Given the description of an element on the screen output the (x, y) to click on. 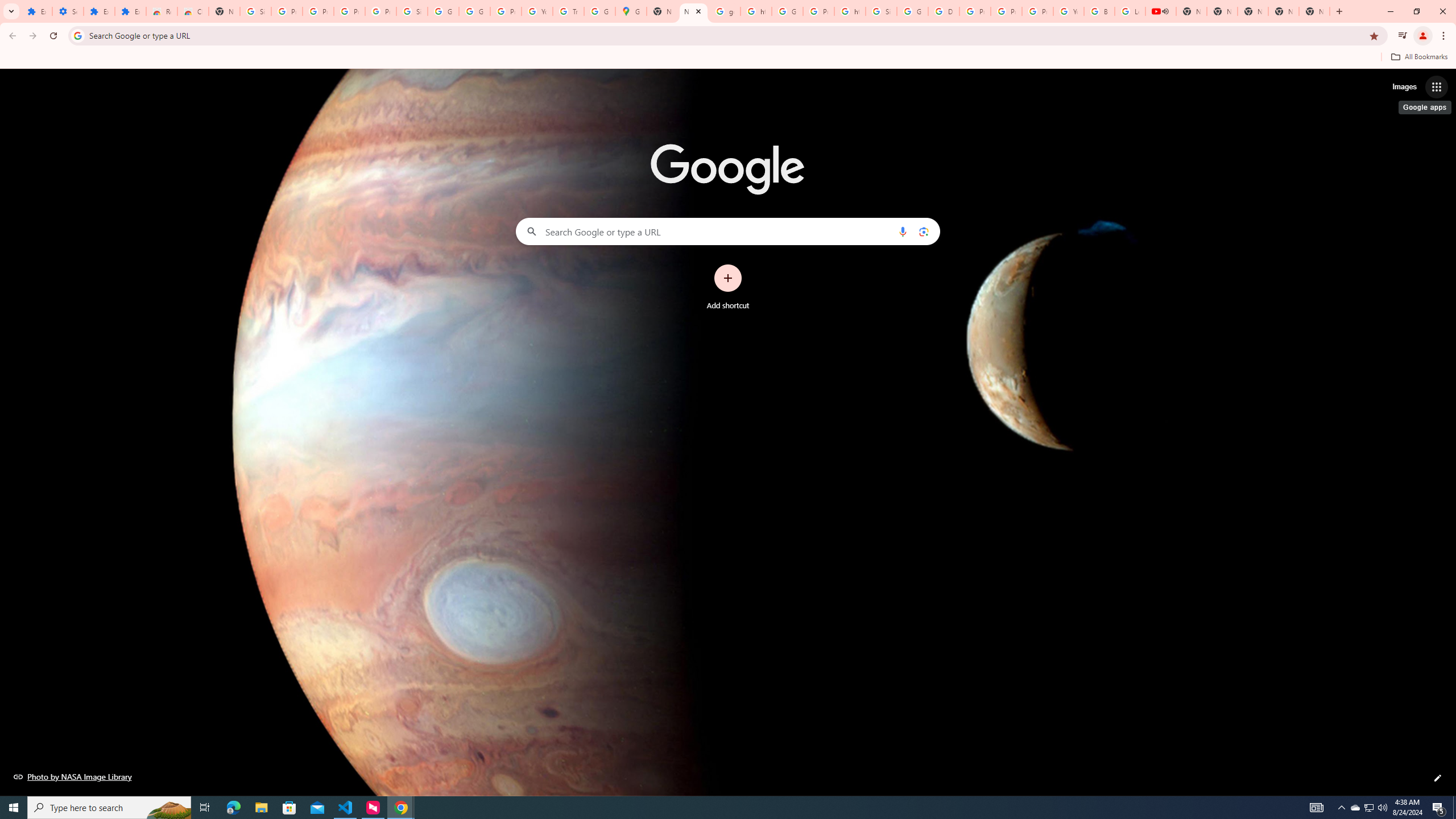
Restore (1416, 11)
Search icon (77, 35)
Chrome (1445, 35)
YouTube (1068, 11)
Close (698, 11)
System (6, 6)
Customize this page (1437, 778)
Minimize (1390, 11)
Search for Images  (1403, 87)
Search Google or type a URL (727, 230)
Browse Chrome as a guest - Computer - Google Chrome Help (1098, 11)
https://scholar.google.com/ (849, 11)
